Given the description of an element on the screen output the (x, y) to click on. 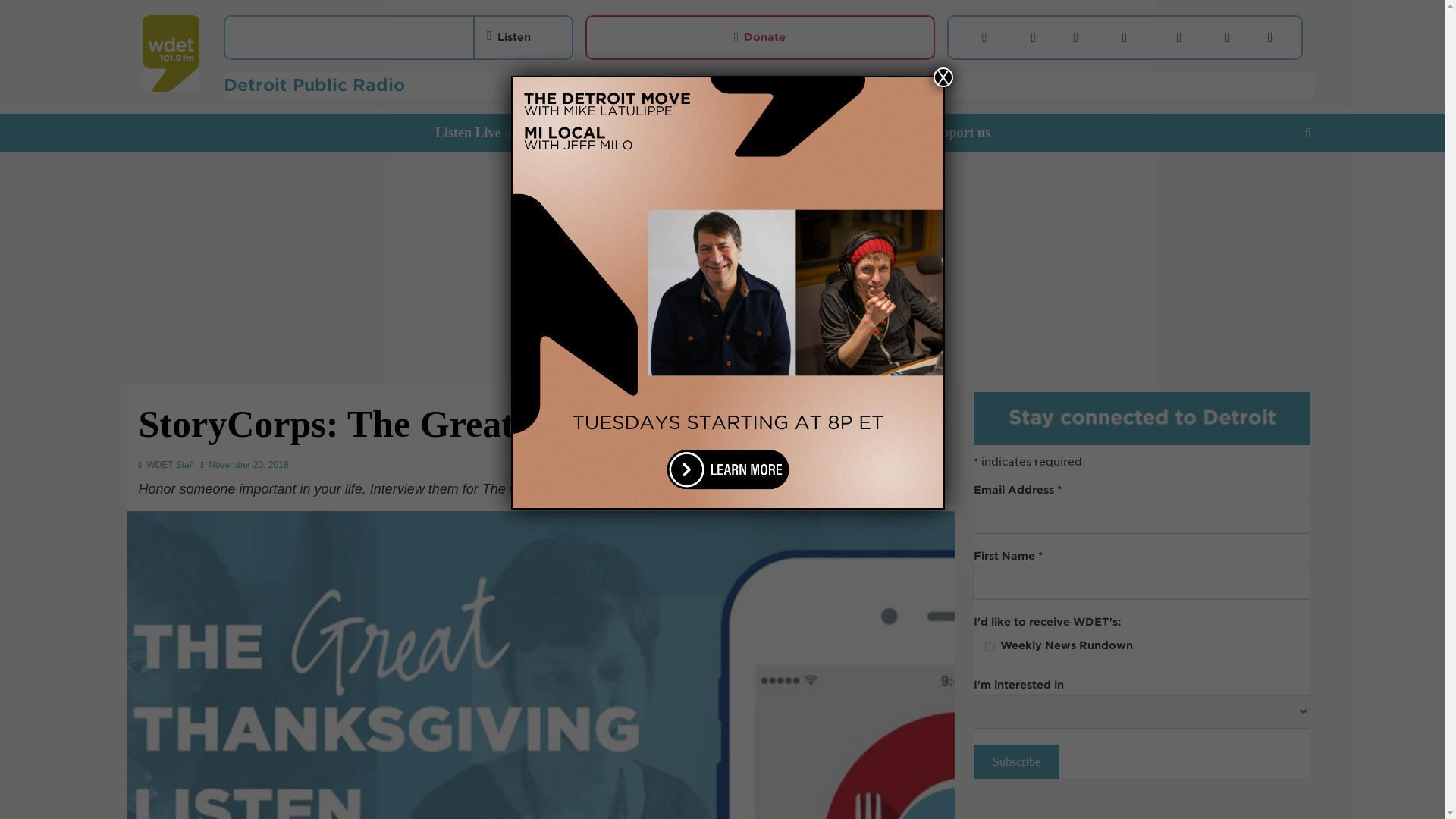
1 (989, 646)
Listen Live (484, 132)
Listen (508, 36)
Donate (759, 37)
Schedule (750, 132)
Search (1307, 132)
Subscribe (1016, 761)
Search (1272, 179)
WDET Staff (170, 464)
Support us (967, 132)
Listener Survey (589, 132)
Playlists (819, 132)
WDET (170, 56)
WDET Staff (170, 464)
